Given the description of an element on the screen output the (x, y) to click on. 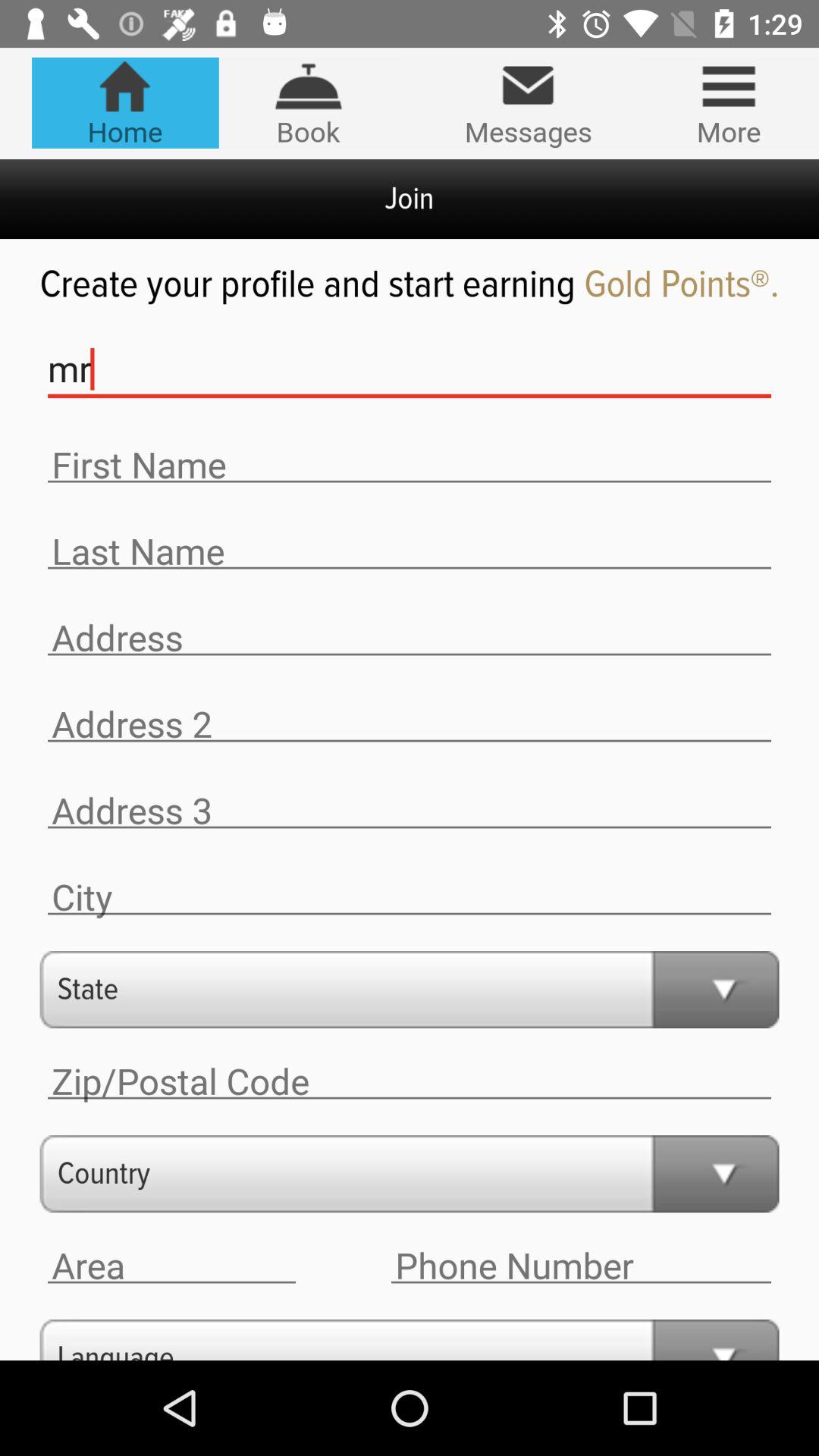
to enter zip code for profile (409, 1081)
